Given the description of an element on the screen output the (x, y) to click on. 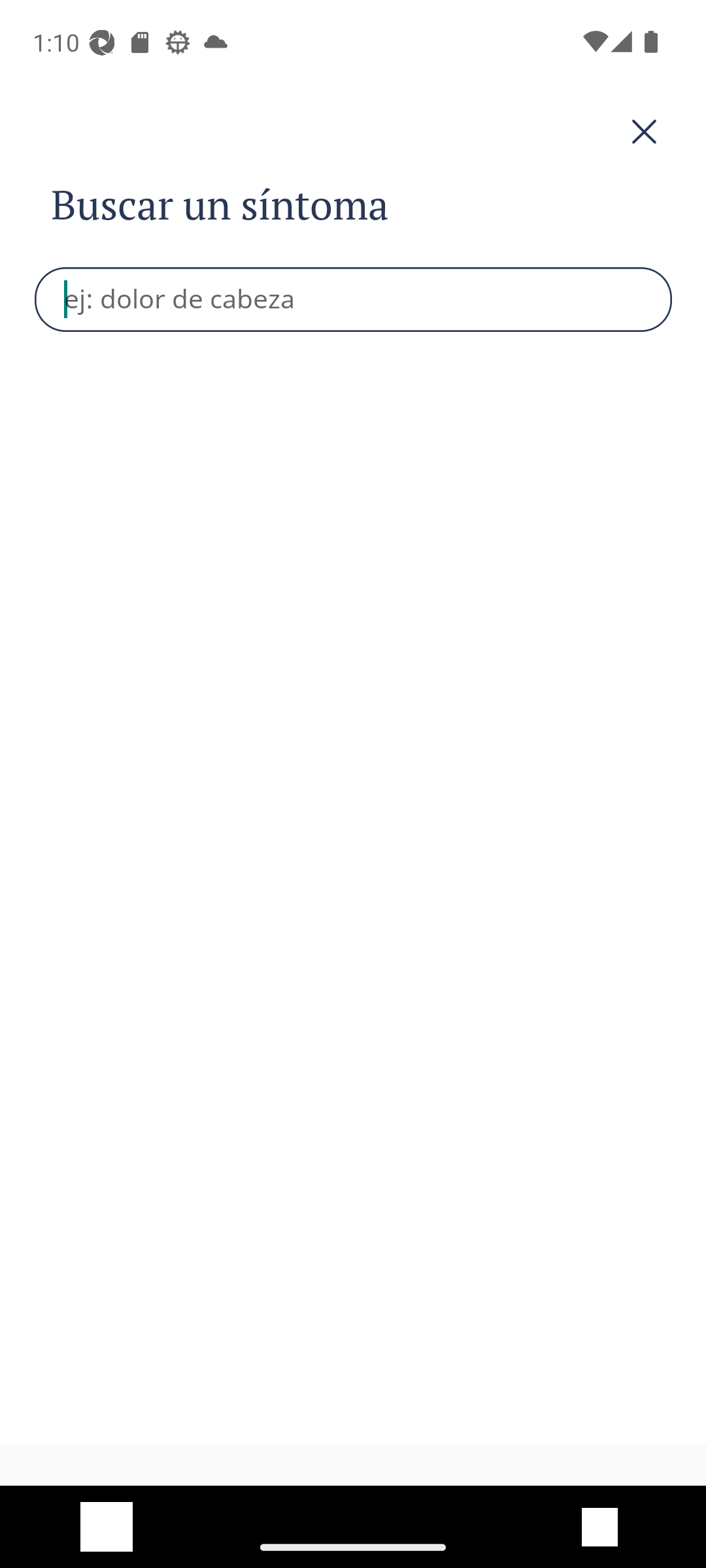
Close, button (353, 131)
ej: dolor de cabeza (353, 299)
